Given the description of an element on the screen output the (x, y) to click on. 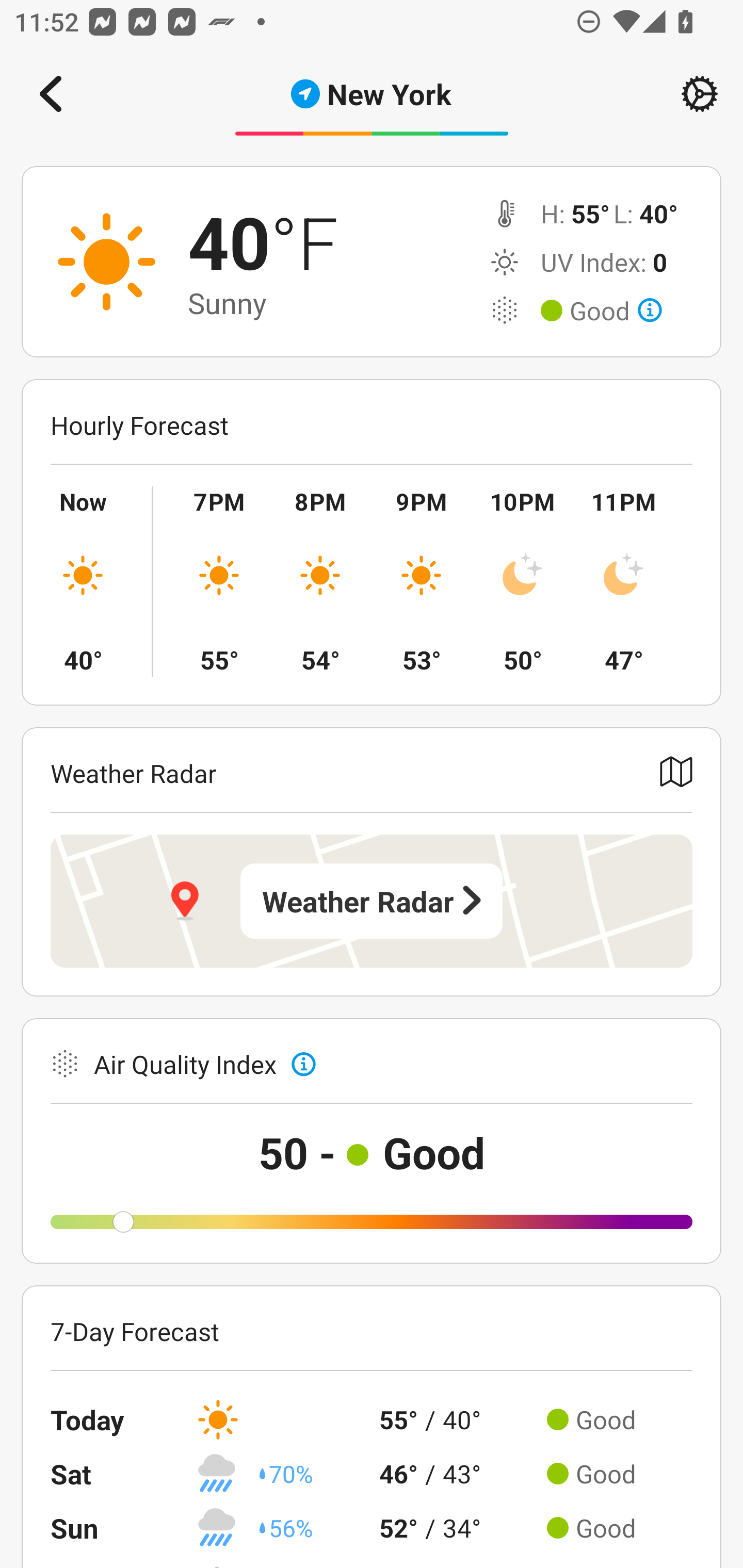
Navigate up (50, 93)
Setting (699, 93)
Good (615, 310)
Weather Radar (371, 900)
